Given the description of an element on the screen output the (x, y) to click on. 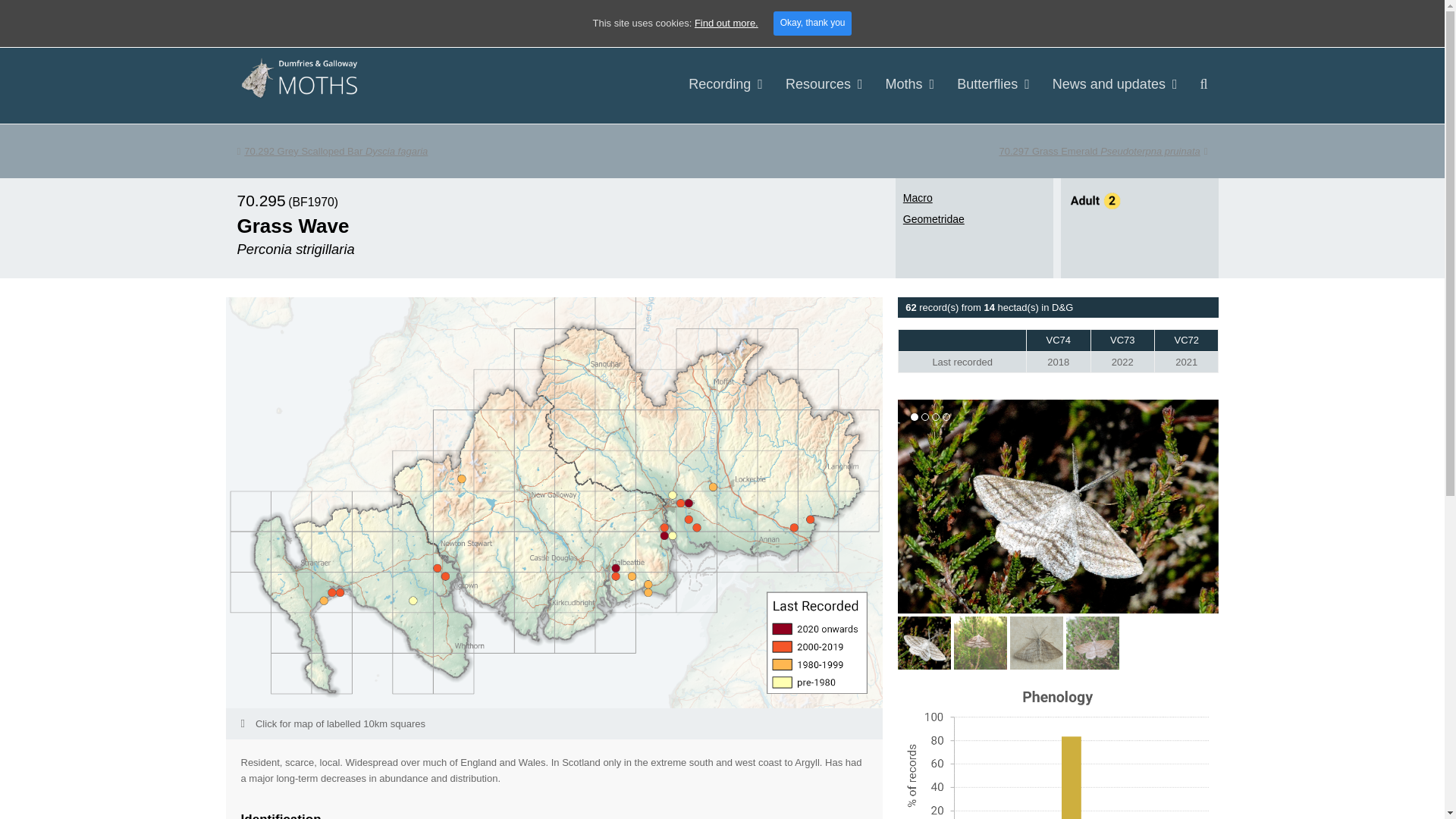
Moths (910, 85)
Adult: 2 (1095, 204)
Recording (725, 85)
News and updates (1115, 85)
Macro (917, 197)
Butterflies (992, 85)
Resources (331, 151)
Geometridae (1103, 151)
Click for map of labelled 10km squares (824, 85)
